Given the description of an element on the screen output the (x, y) to click on. 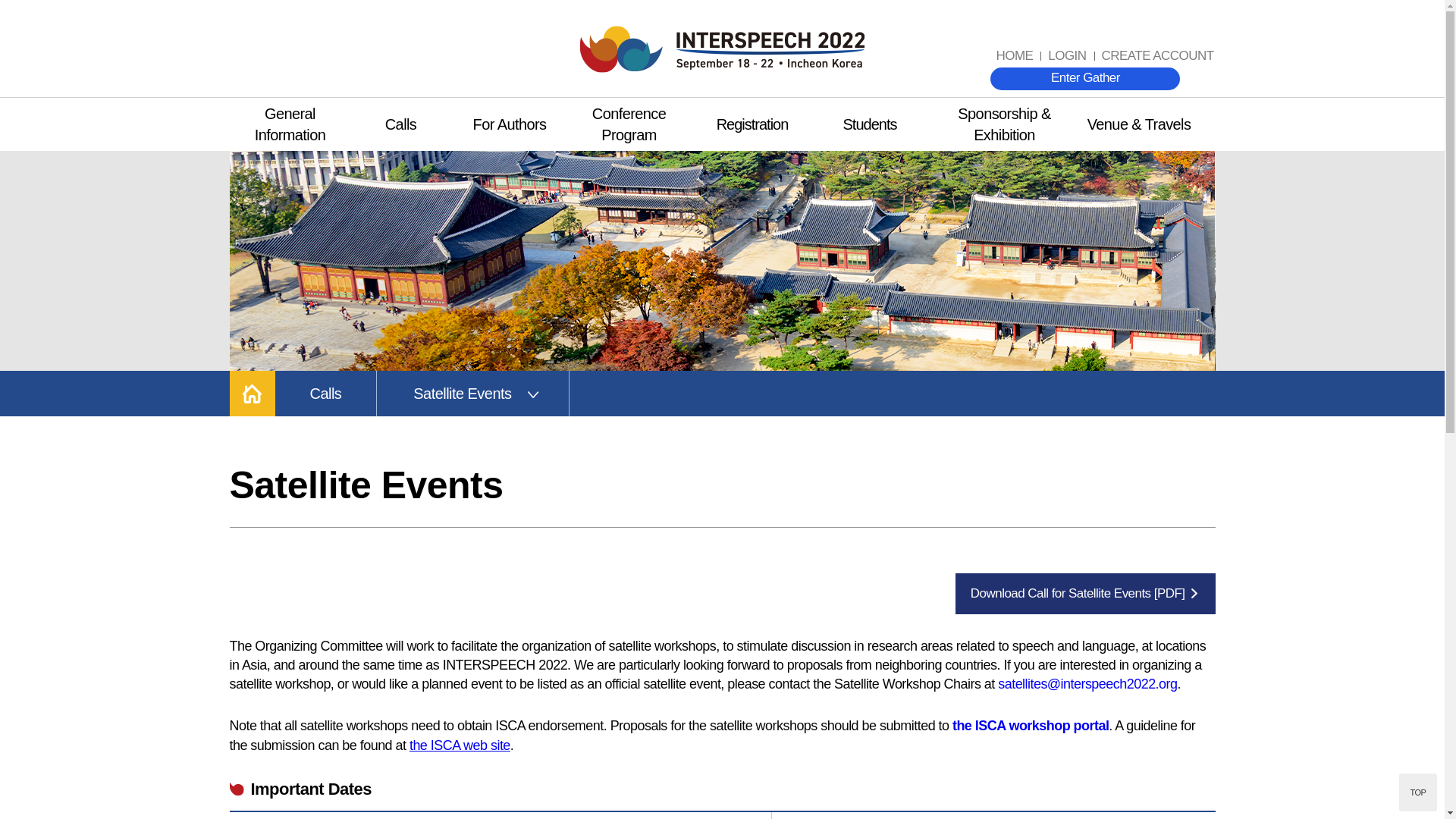
HOME (1014, 56)
For Authors (508, 123)
General Information (289, 123)
CREATE ACCOUNT (1157, 56)
Enter Gather (1084, 78)
Registration (751, 123)
Calls (399, 123)
INTERSPEECH 2022 (721, 48)
LOGIN (1067, 56)
Conference Program (629, 123)
